Given the description of an element on the screen output the (x, y) to click on. 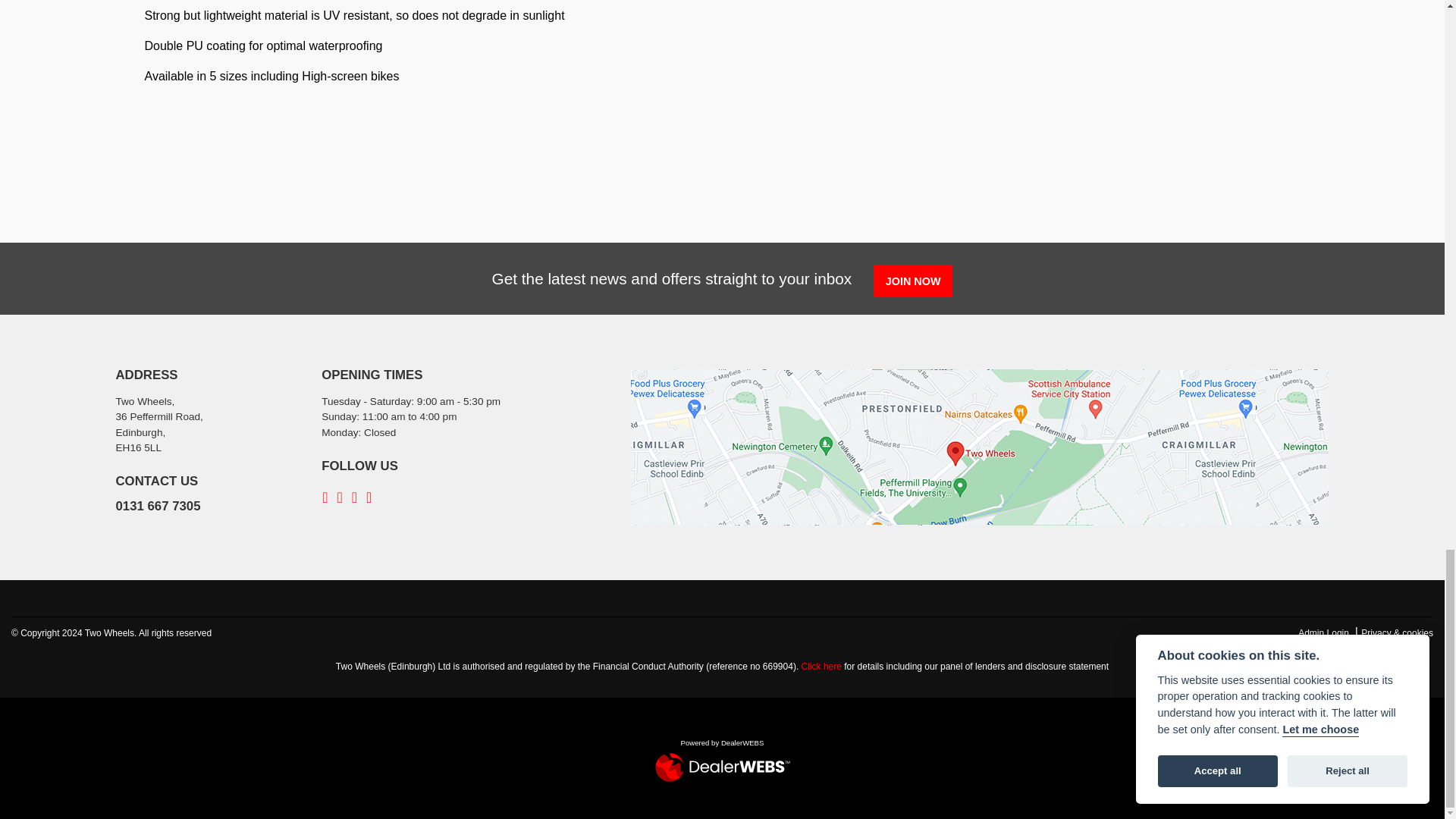
JOIN NOW (913, 281)
